Given the description of an element on the screen output the (x, y) to click on. 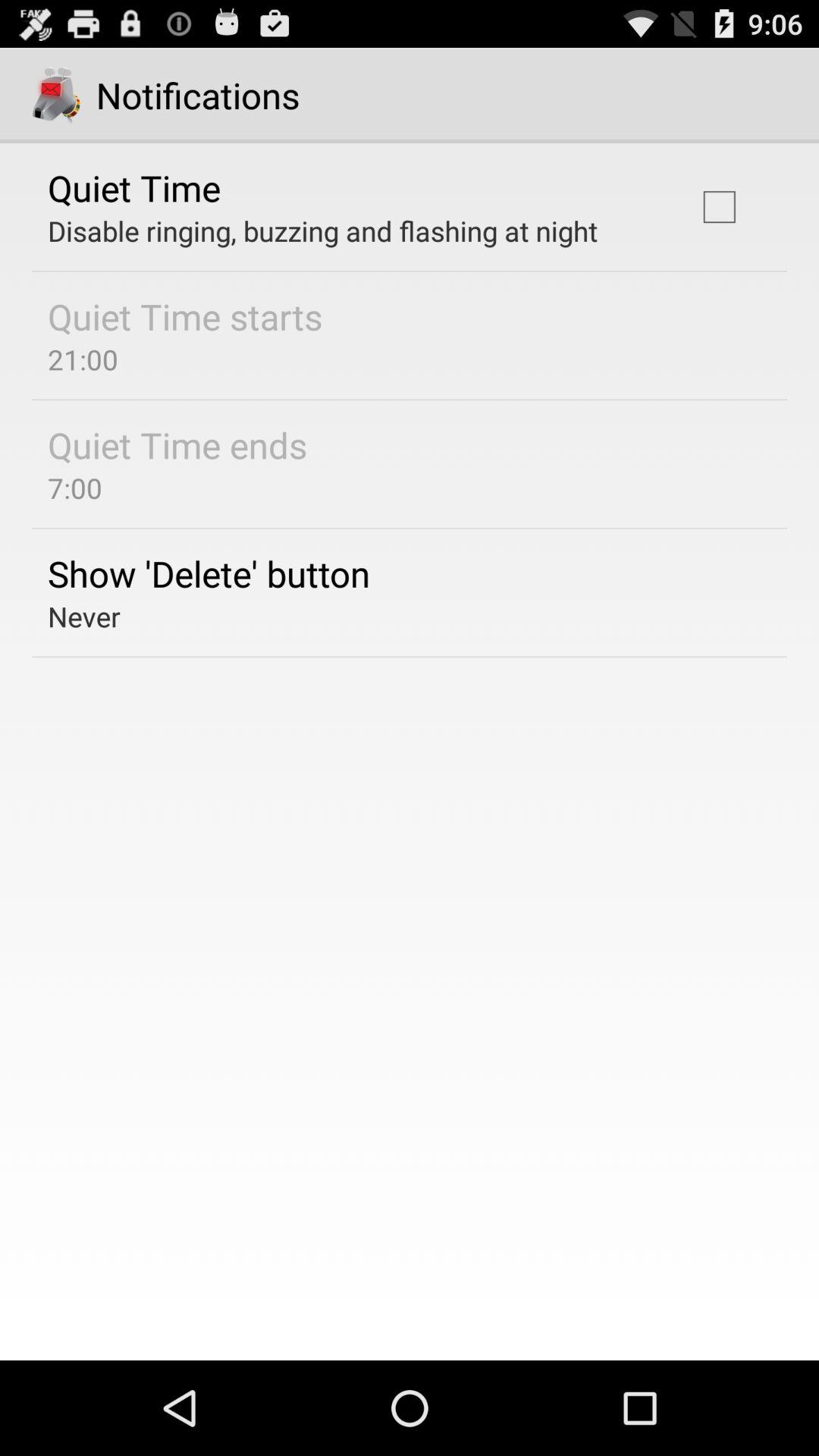
turn off the app above quiet time starts (322, 230)
